Given the description of an element on the screen output the (x, y) to click on. 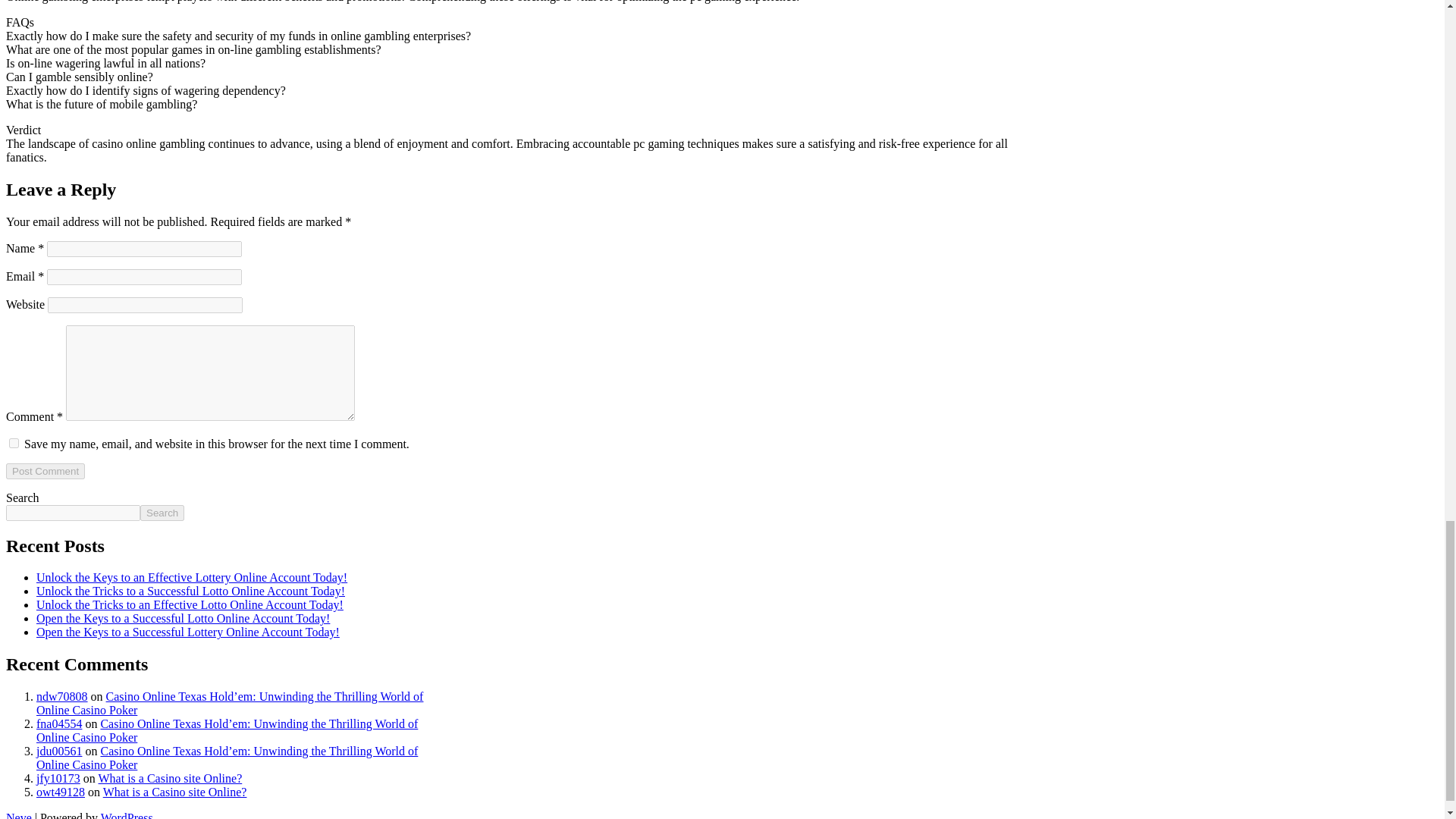
What is a Casino site Online? (171, 778)
Post Comment (44, 471)
jdu00561 (58, 750)
Open the Keys to a Successful Lotto Online Account Today! (183, 617)
Search (161, 512)
yes (13, 442)
Post Comment (44, 471)
Open the Keys to a Successful Lottery Online Account Today! (187, 631)
